Given the description of an element on the screen output the (x, y) to click on. 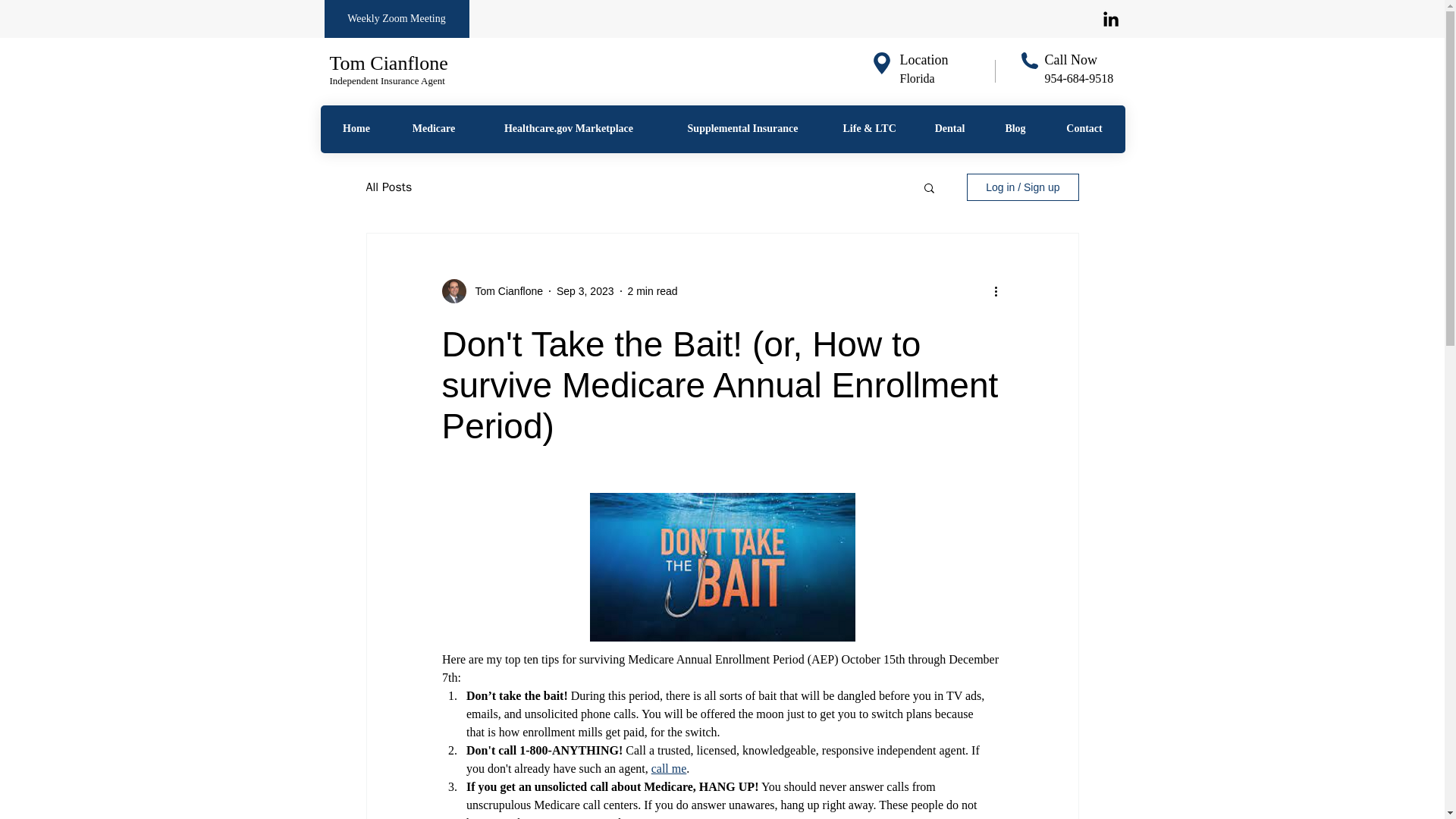
Home (355, 128)
Sep 3, 2023 (585, 291)
Dental (949, 128)
954-684-9518 (1079, 78)
Blog (1015, 128)
2 min read (652, 291)
Medicare (434, 128)
All Posts (388, 186)
Tom Cianflone (387, 63)
Contact (1083, 128)
Weekly Zoom Meeting (396, 18)
call me (667, 768)
Healthcare.gov Marketplace (568, 128)
Supplemental Insurance (743, 128)
Tom Cianflone (504, 291)
